Given the description of an element on the screen output the (x, y) to click on. 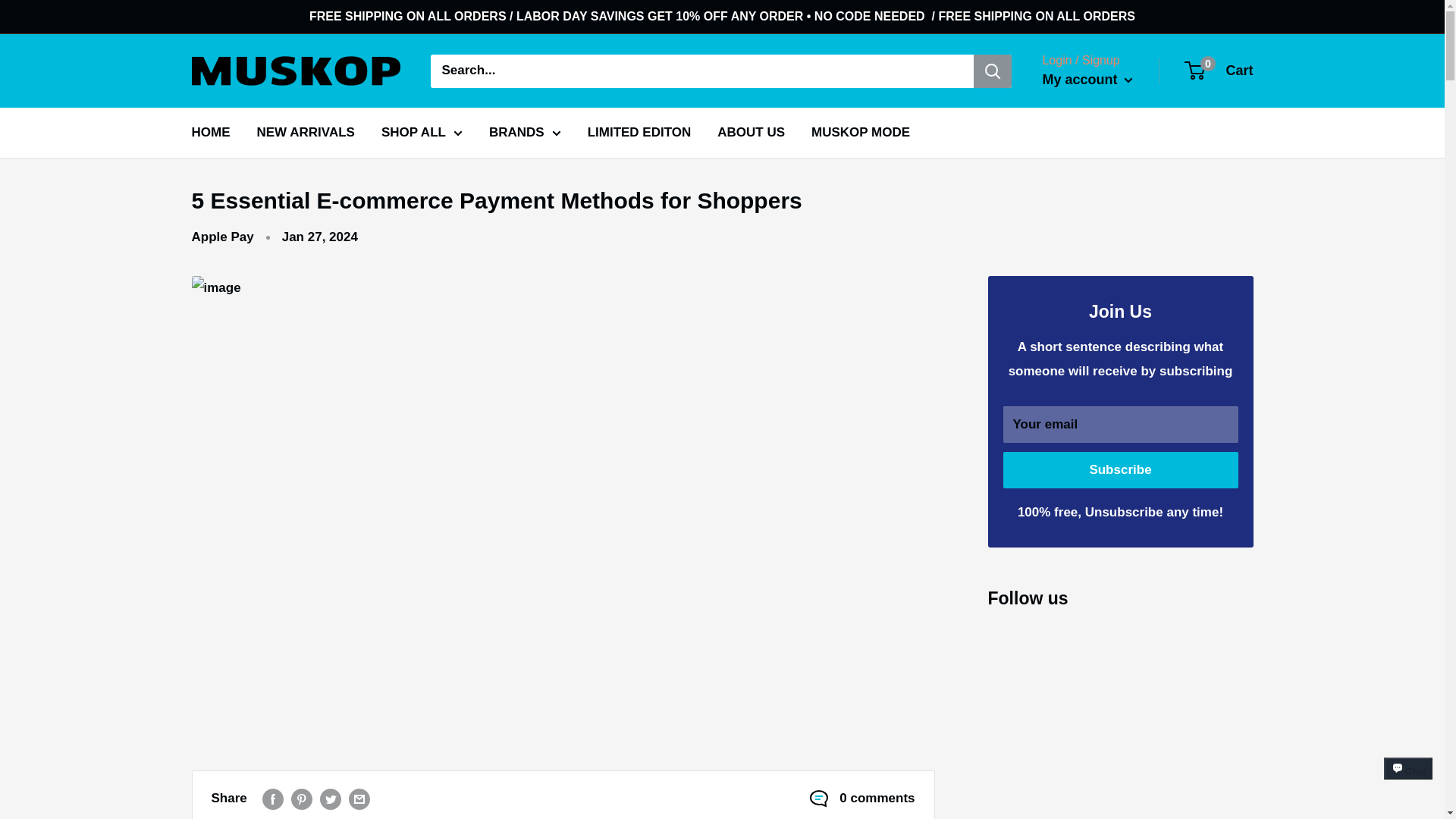
Shopify online store chat (1408, 781)
